Given the description of an element on the screen output the (x, y) to click on. 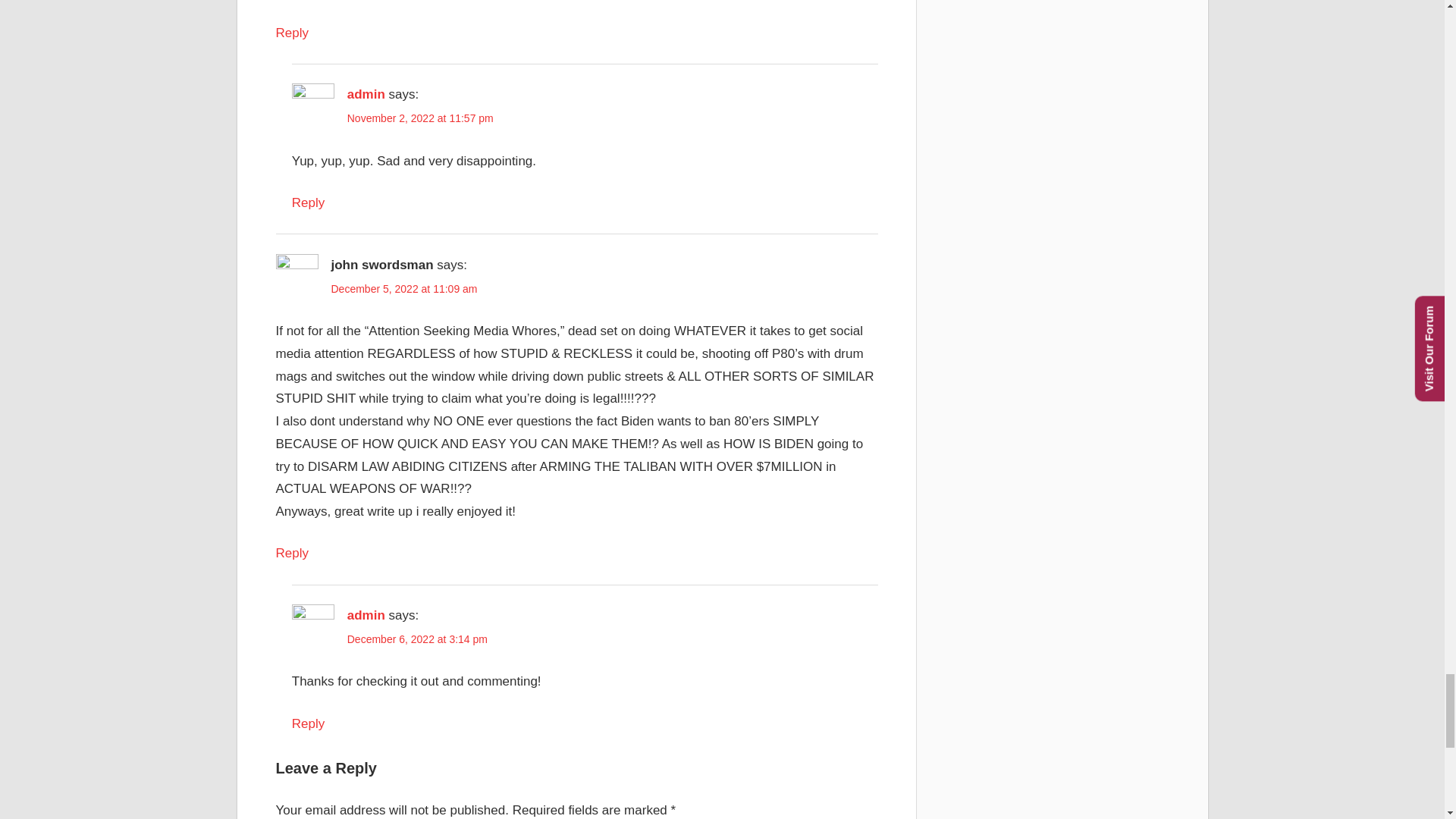
Reply (292, 553)
Reply (292, 32)
December 5, 2022 at 11:09 am (403, 288)
admin (366, 615)
December 6, 2022 at 3:14 pm (417, 639)
Reply (308, 202)
November 2, 2022 at 11:57 pm (420, 118)
admin (366, 93)
